Given the description of an element on the screen output the (x, y) to click on. 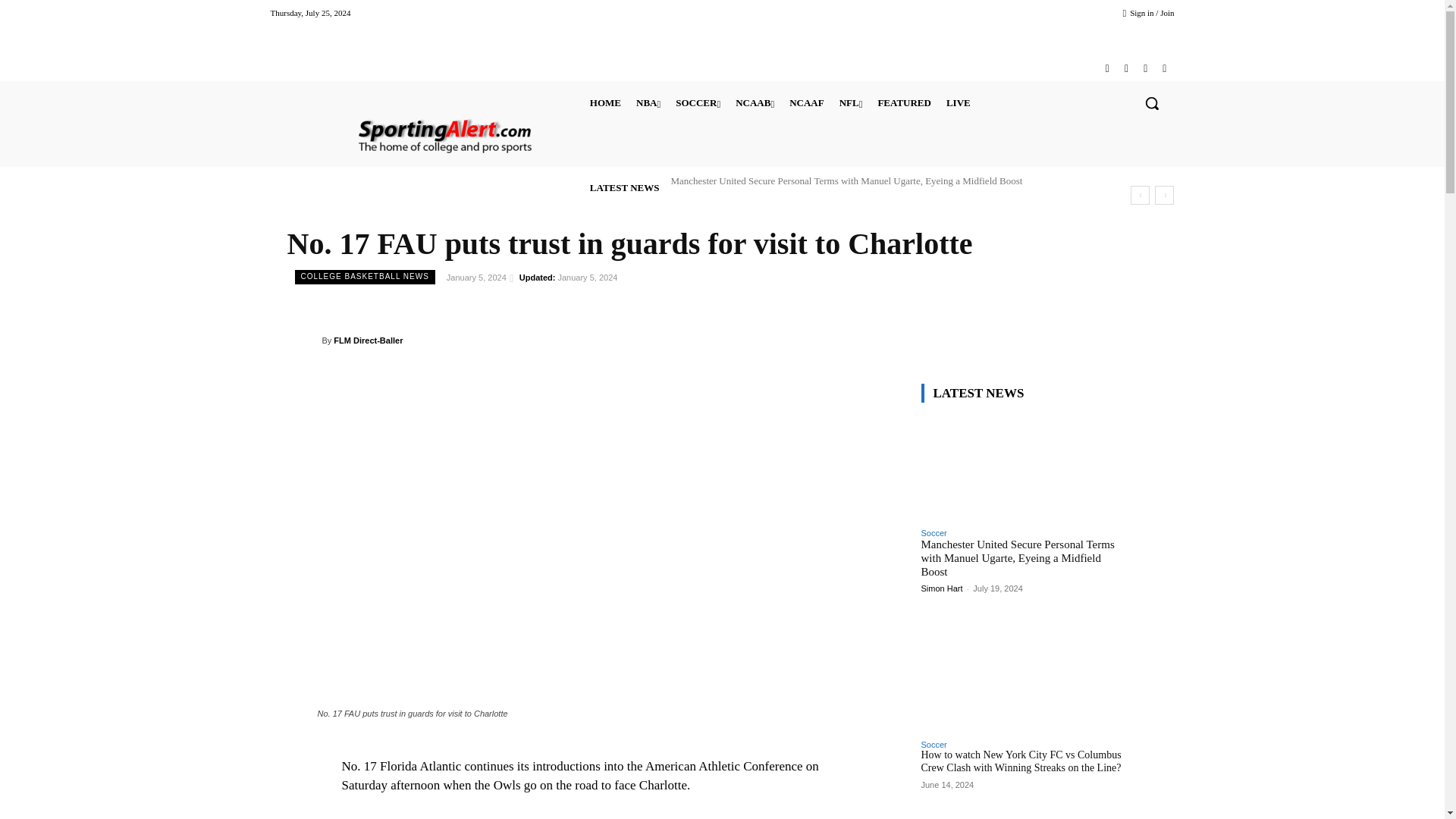
Facebook (1106, 67)
Twitter (1144, 67)
Instagram (1125, 67)
Youtube (1163, 67)
